Given the description of an element on the screen output the (x, y) to click on. 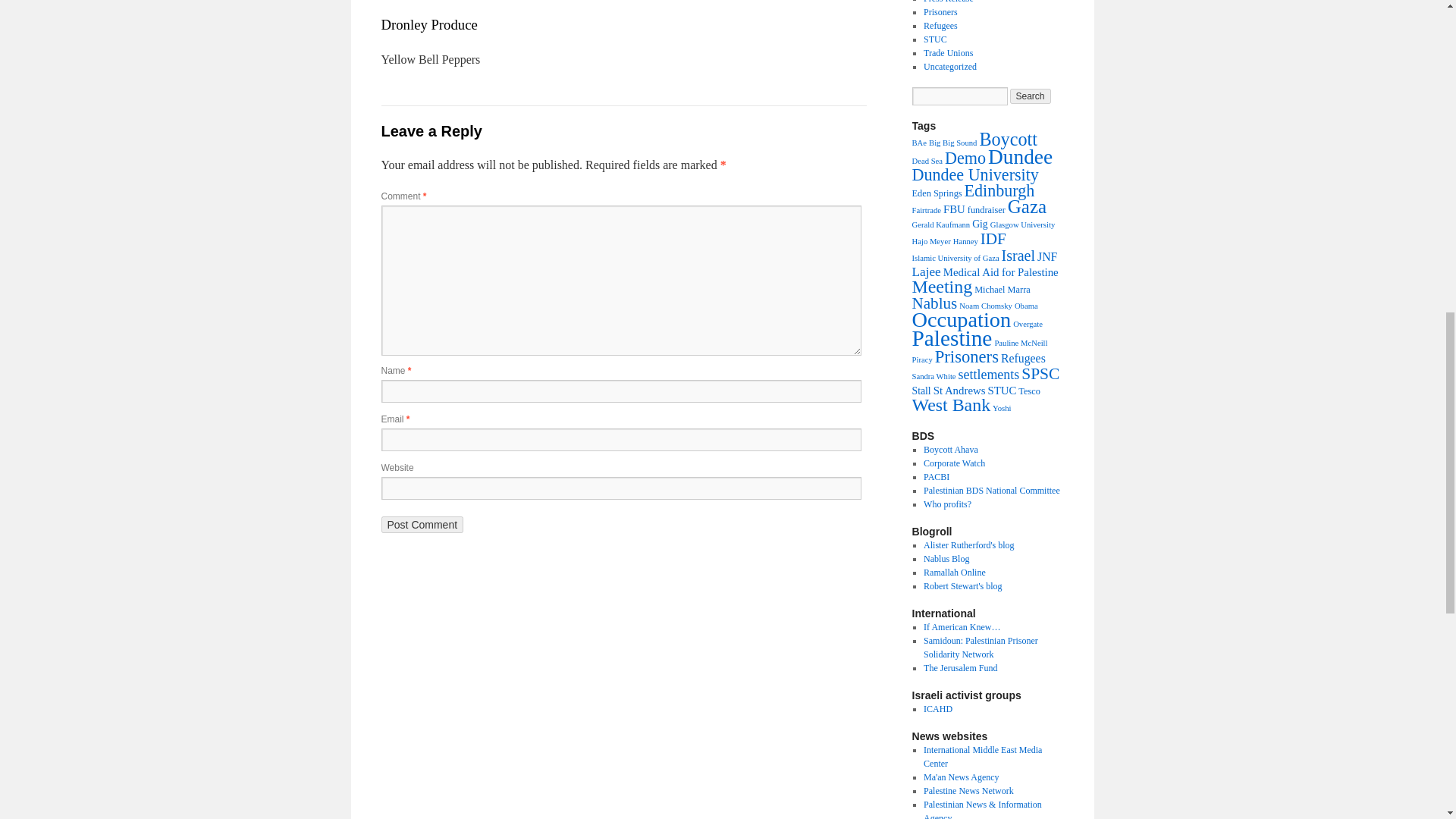
Palestine News Network (968, 790)
Search (1030, 96)
International Middle East Media Centre (982, 756)
Israeli committee against house demolitions (937, 708)
Post Comment (421, 524)
Post Comment (421, 524)
Who profits? The Israeli occupation industry (947, 503)
website of the Palestinian BDS National Committee (991, 490)
Boycott Ahava beauty products (950, 449)
Blog of Dundee-Nablus Twinning Association visit to Nablus (946, 558)
